Given the description of an element on the screen output the (x, y) to click on. 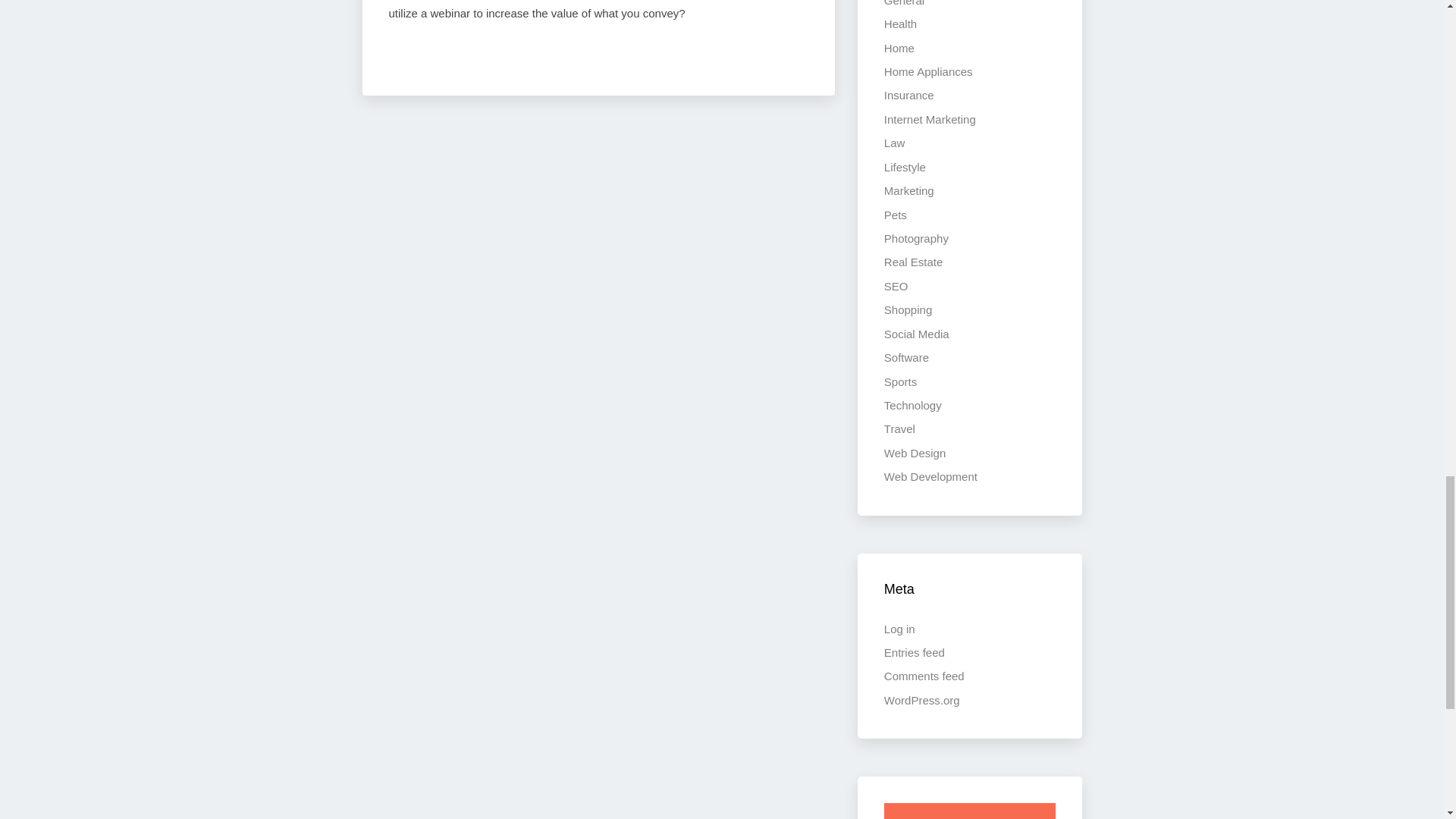
Insurance (908, 94)
Photography (916, 237)
Shopping (907, 309)
Software (905, 357)
Pets (895, 214)
Marketing (908, 190)
General (903, 3)
Health (900, 23)
Law (894, 142)
Home Appliances (927, 71)
Home (898, 47)
Social Media (916, 333)
Sports (900, 381)
Lifestyle (904, 166)
SEO (895, 286)
